Given the description of an element on the screen output the (x, y) to click on. 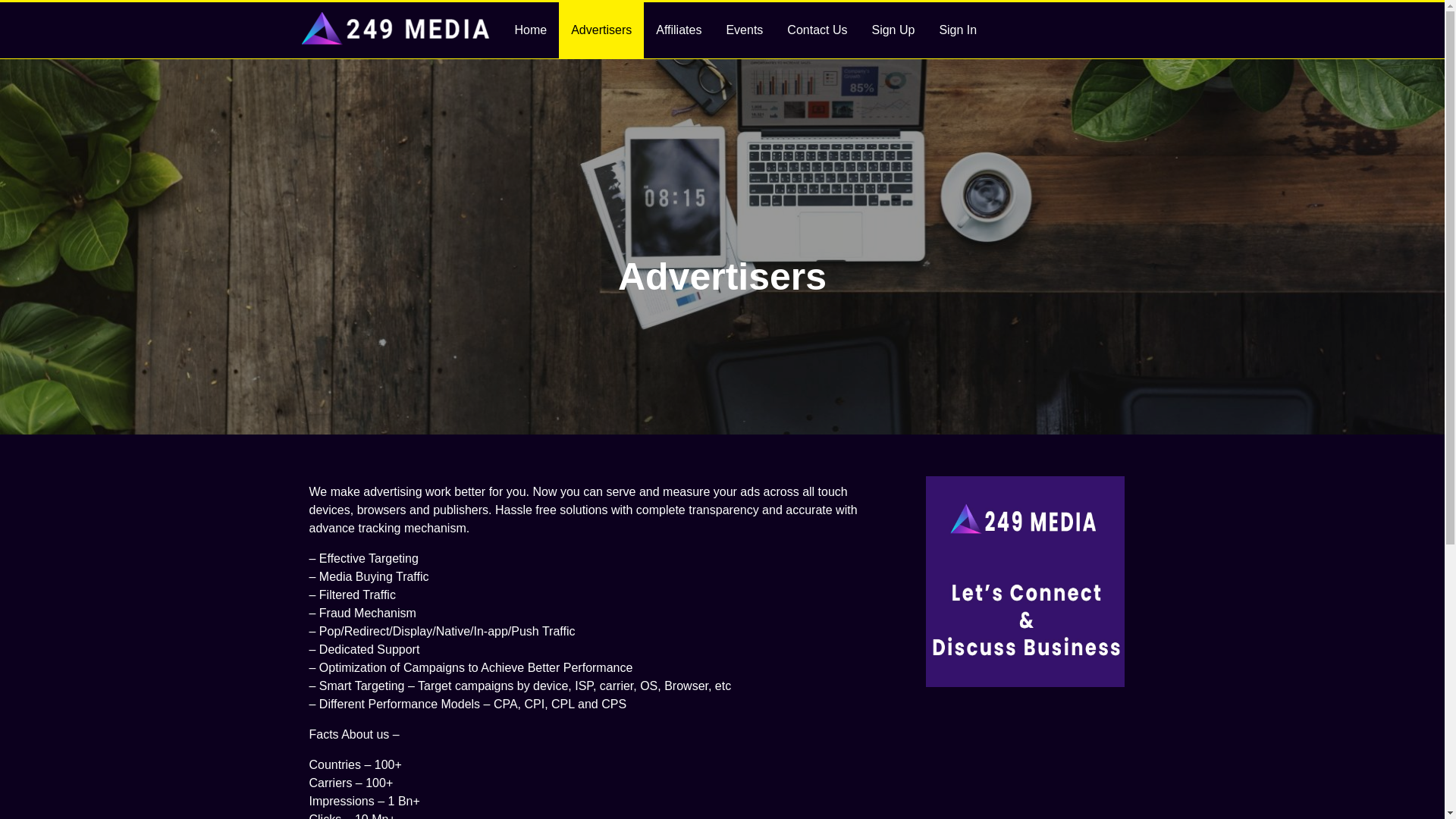
Contact Us Element type: text (817, 30)
Sign In Element type: text (957, 30)
Advertisers Element type: text (600, 30)
Sign Up Element type: text (892, 30)
Events Element type: text (744, 30)
Home Element type: text (530, 30)
Affiliates Element type: text (678, 30)
